Given the description of an element on the screen output the (x, y) to click on. 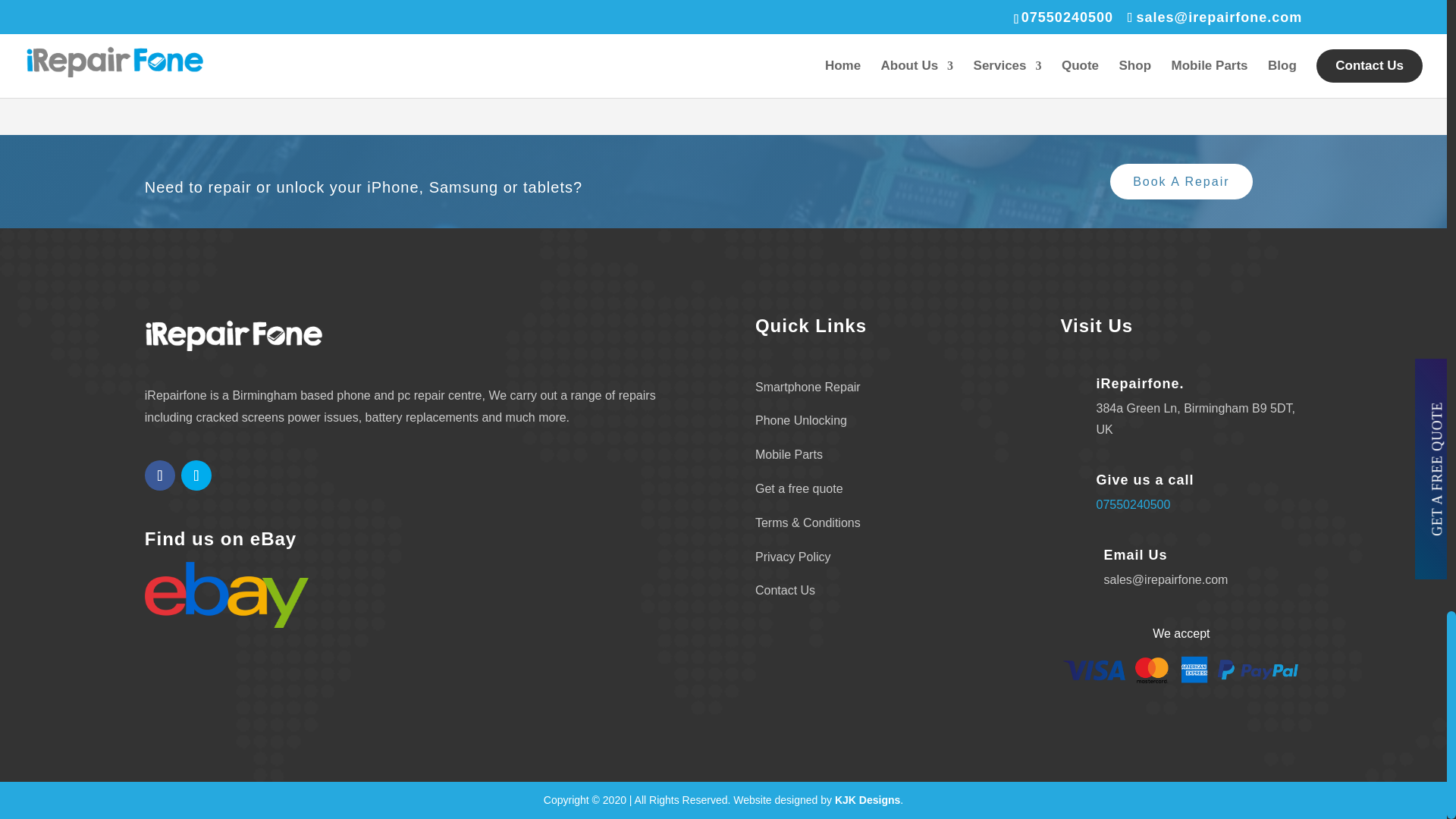
07550240500 (1133, 504)
Phone Unlocking (801, 420)
Book A Repair (1180, 181)
Follow on Twitter (195, 475)
Get a free quote (799, 488)
Contact Us (785, 590)
Follow on Facebook (159, 475)
Privacy Policy (793, 556)
Mobile Parts (788, 454)
Smartphone Repair (807, 386)
